Given the description of an element on the screen output the (x, y) to click on. 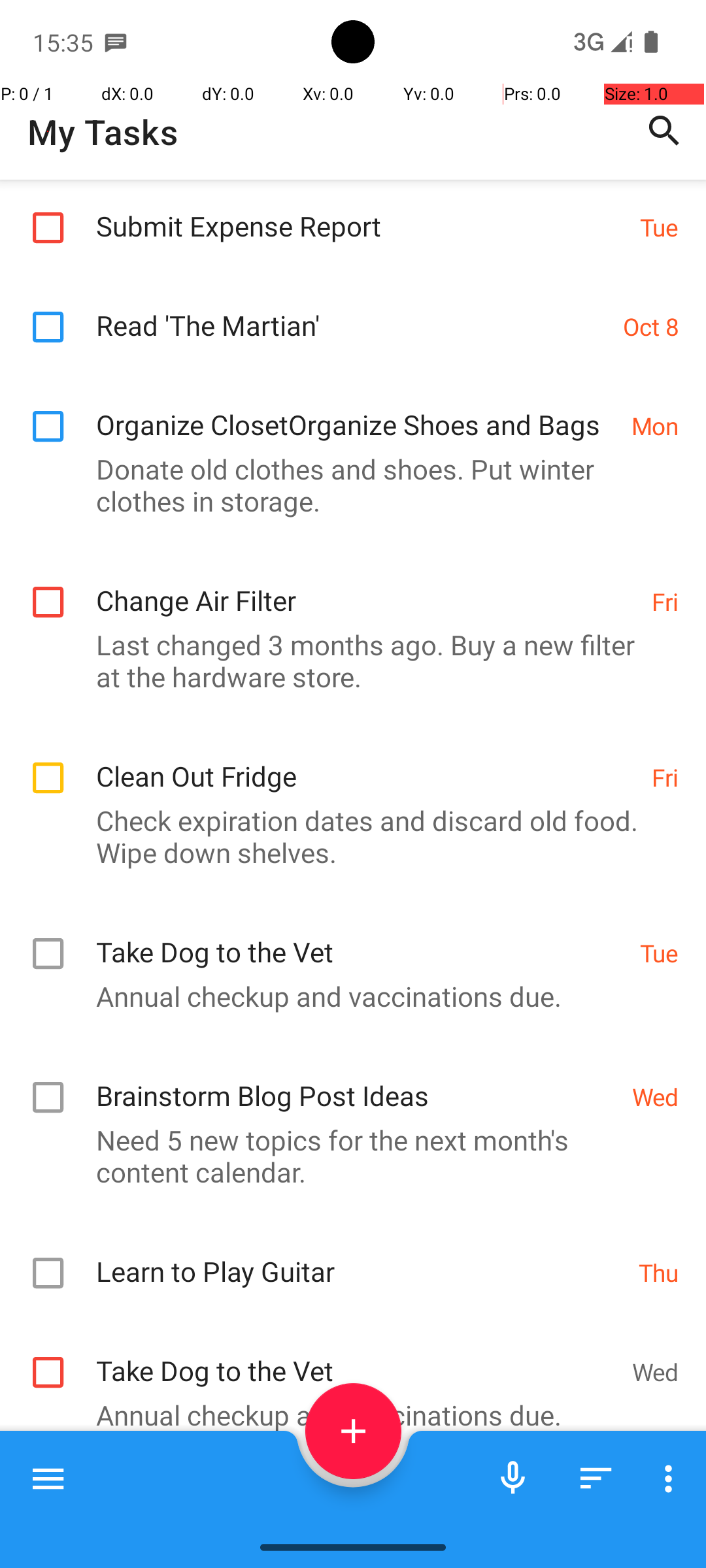
My Tasks Element type: android.widget.TextView (102, 131)
Sort Element type: android.widget.Button (595, 1478)
Create new task Element type: android.widget.ImageButton (353, 1431)
Submit Expense Report Element type: android.widget.TextView (361, 211)
Tue Element type: android.widget.TextView (659, 226)
Read 'The Martian' Element type: android.widget.TextView (352, 318)
Oct 8 Element type: android.widget.TextView (650, 333)
Organize ClosetOrganize Shoes and Bags Element type: android.widget.TextView (356, 406)
Donate old clothes and shoes. Put winter clothes in storage. Element type: android.widget.TextView (346, 480)
Mon Element type: android.widget.TextView (654, 421)
Change Air Filter Element type: android.widget.TextView (367, 586)
Last changed 3 months ago. Buy a new filter at the hardware store. Element type: android.widget.TextView (346, 660)
Fri Element type: android.widget.TextView (665, 600)
Clean Out Fridge Element type: android.widget.TextView (367, 761)
Check expiration dates and discard old food. Wipe down shelves. Element type: android.widget.TextView (346, 835)
Take Dog to the Vet Element type: android.widget.TextView (361, 937)
Annual checkup and vaccinations due. Element type: android.widget.TextView (346, 995)
Brainstorm Blog Post Ideas Element type: android.widget.TextView (357, 1081)
Need 5 new topics for the next month's content calendar. Element type: android.widget.TextView (346, 1155)
Wed Element type: android.widget.TextView (655, 1096)
Learn to Play Guitar Element type: android.widget.TextView (360, 1257)
Thu Element type: android.widget.TextView (658, 1271)
